Given the description of an element on the screen output the (x, y) to click on. 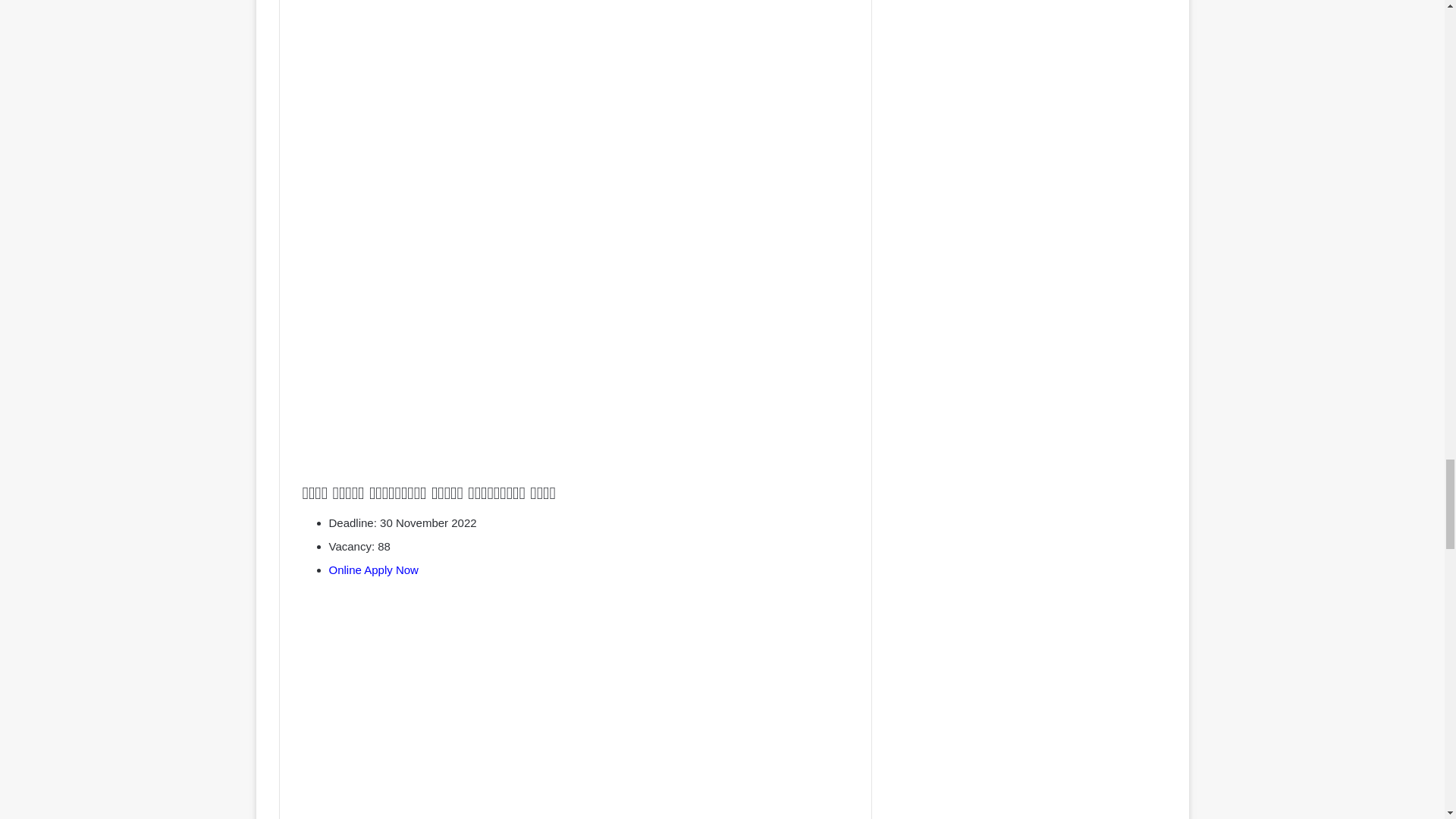
Online Apply Now (374, 569)
